Given the description of an element on the screen output the (x, y) to click on. 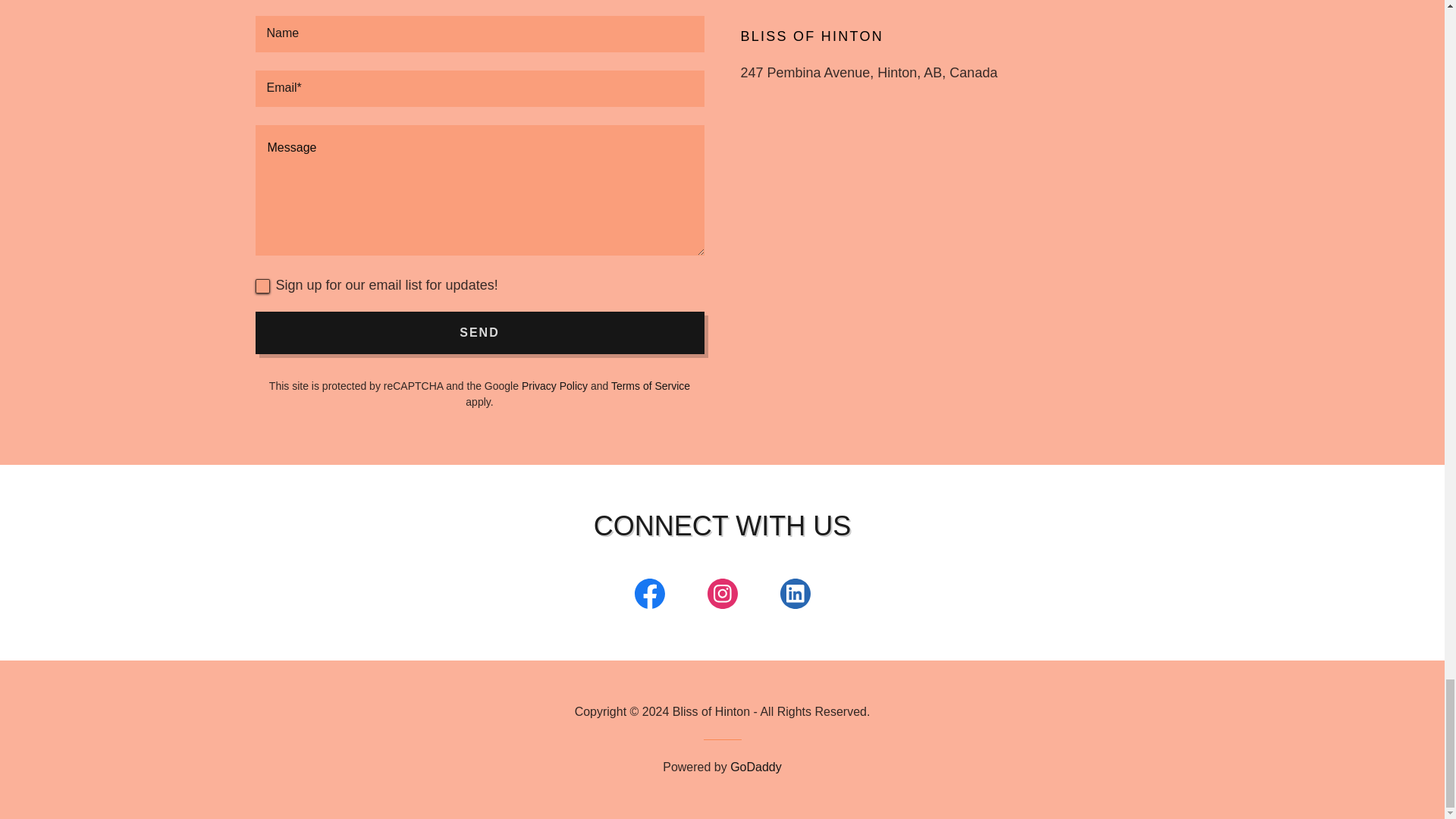
Terms of Service (650, 386)
Privacy Policy (554, 386)
SEND (478, 332)
GoDaddy (755, 766)
